Given the description of an element on the screen output the (x, y) to click on. 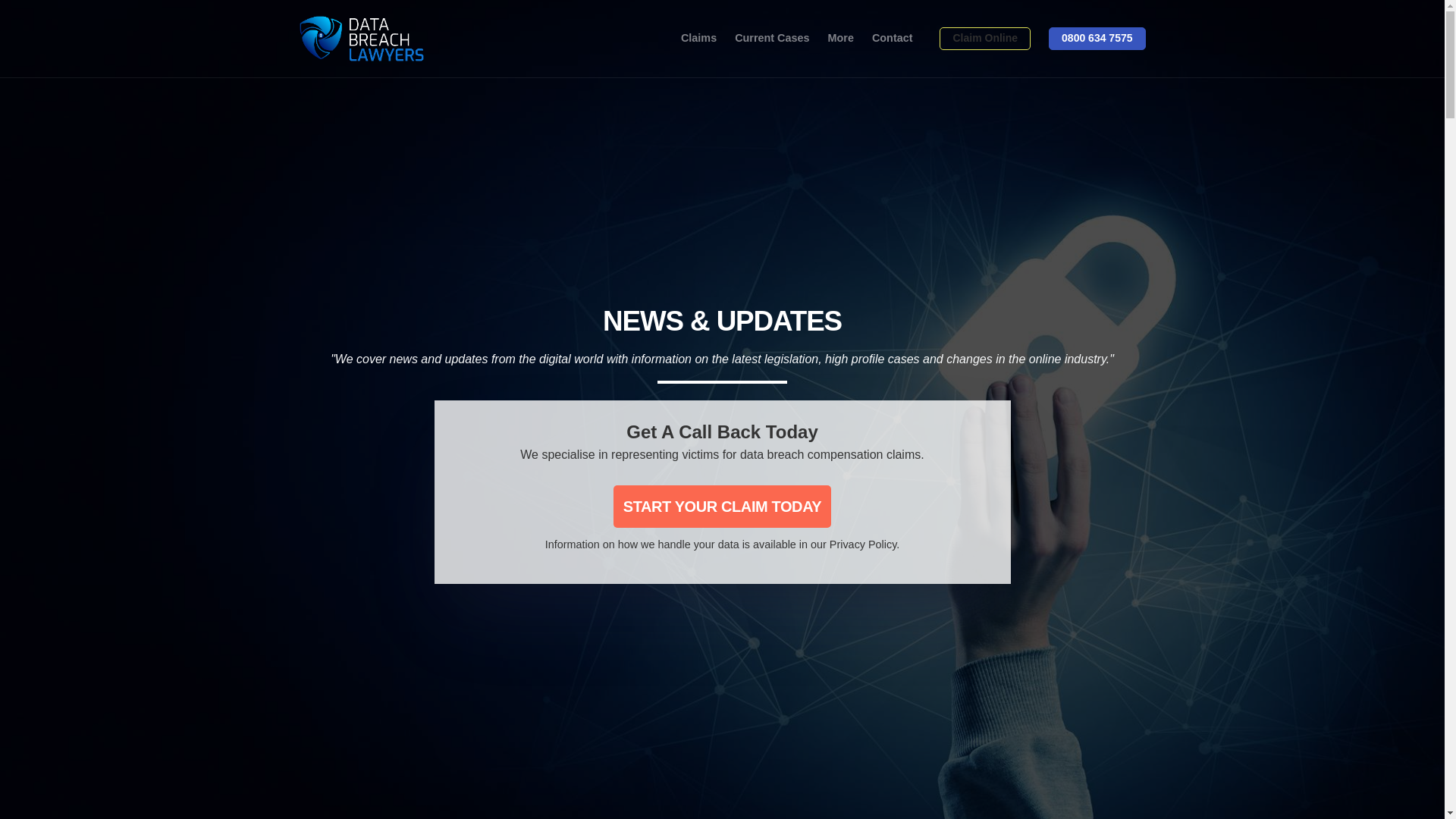
Contact (892, 38)
0800 634 7575 (1096, 38)
Current Cases (771, 38)
Claim Online (984, 38)
START YOUR CLAIM TODAY (721, 506)
Claims (698, 38)
More (840, 38)
